Given the description of an element on the screen output the (x, y) to click on. 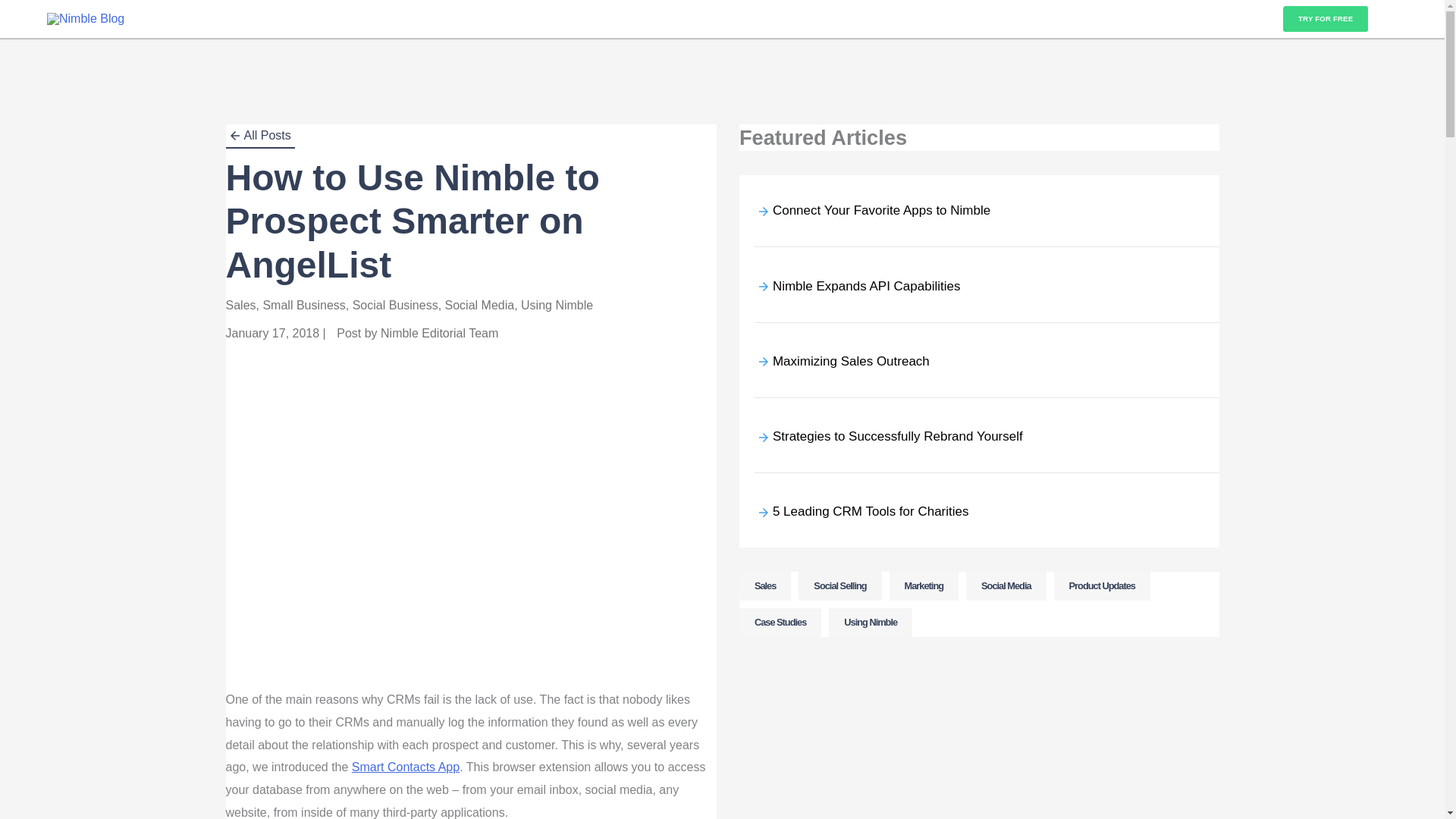
SALES (363, 19)
Social Media (480, 305)
View all posts by Nimble Editorial Team (438, 332)
CRM (329, 19)
Social Business (395, 305)
BUSINESS SUCCESS (426, 19)
Nimble Expands API Capabilities (866, 286)
Maximizing Sales Outreach (851, 360)
Nimble Editorial Team (438, 332)
PRODUCT UPDATES (203, 19)
